Given the description of an element on the screen output the (x, y) to click on. 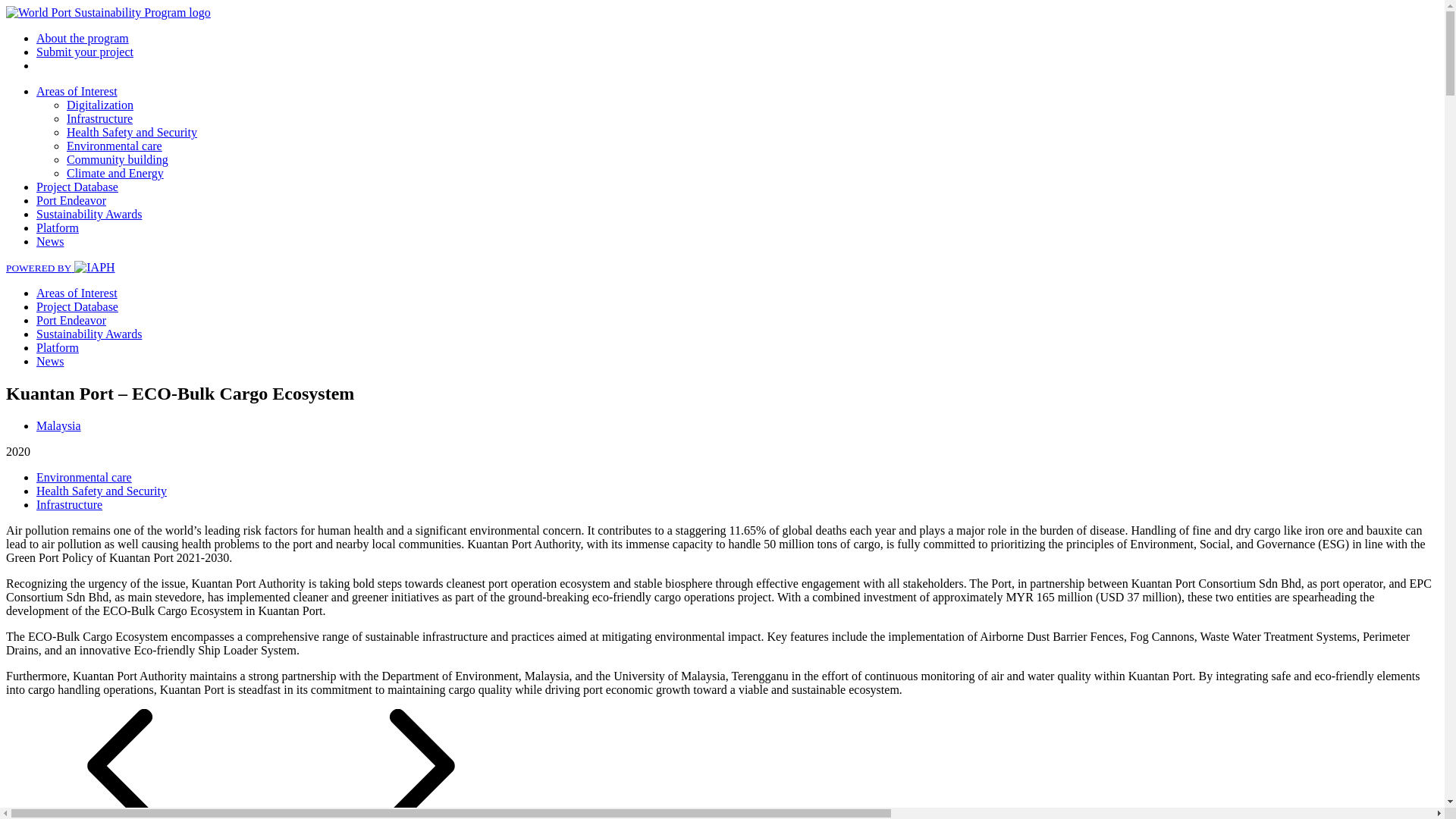
Digitalization (99, 104)
Port Endeavor (71, 319)
Malaysia (58, 425)
World Port Sustainability Program (108, 11)
Infrastructure (99, 118)
Sustainability Awards (88, 333)
Next (408, 815)
Previous (143, 815)
Port Endeavor (71, 200)
